Given the description of an element on the screen output the (x, y) to click on. 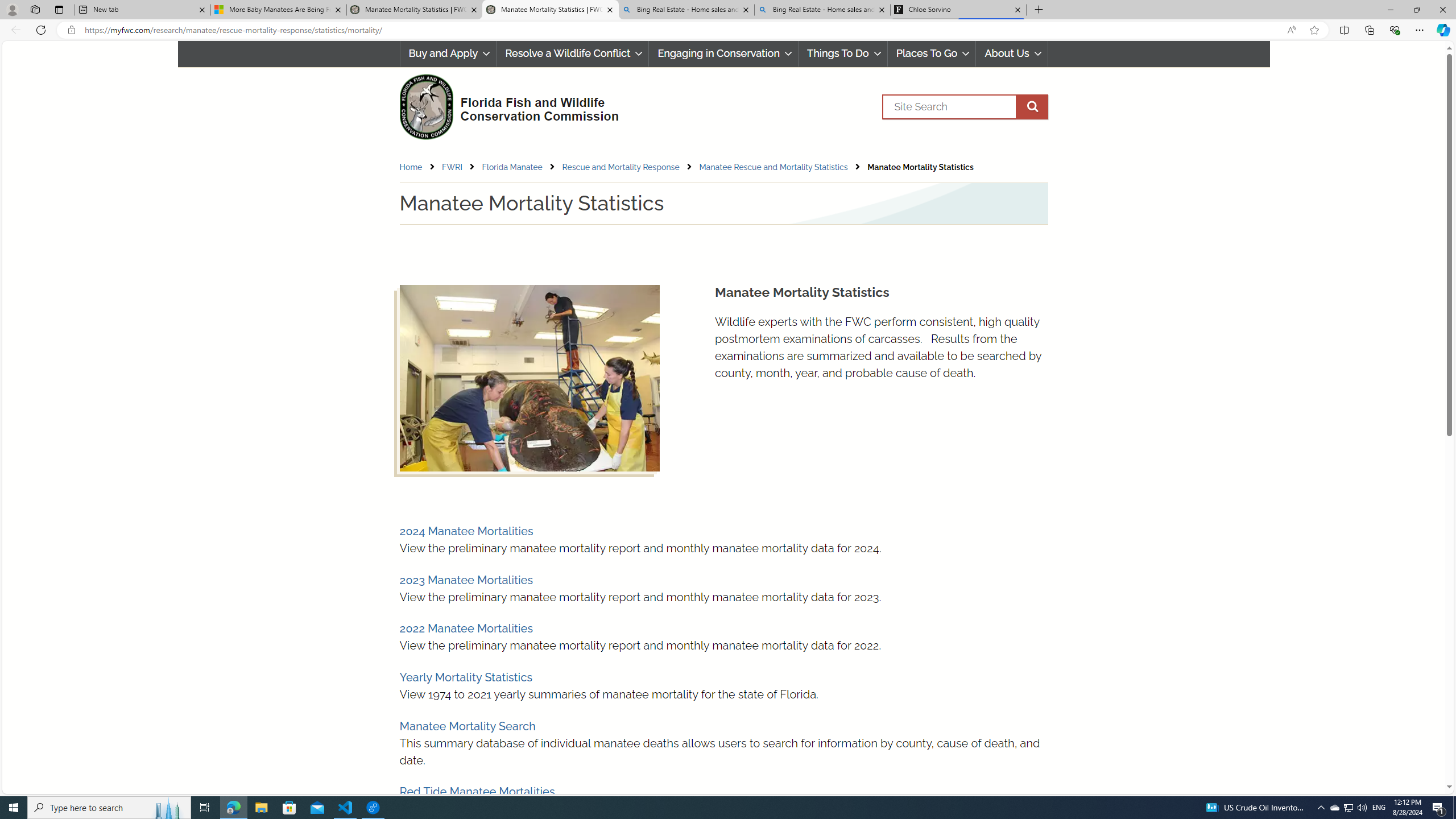
Manatee Mortality Statistics | FWC (550, 9)
Rescue and Mortality Response (629, 166)
FWC Logo (425, 106)
FWRI (452, 166)
Bing Real Estate - Home sales and rental listings (822, 9)
Manatee Necropsy (528, 377)
Places To Go (931, 53)
Manatee Rescue and Mortality Statistics (782, 166)
2024 Manatee Mortalities (465, 531)
